Given the description of an element on the screen output the (x, y) to click on. 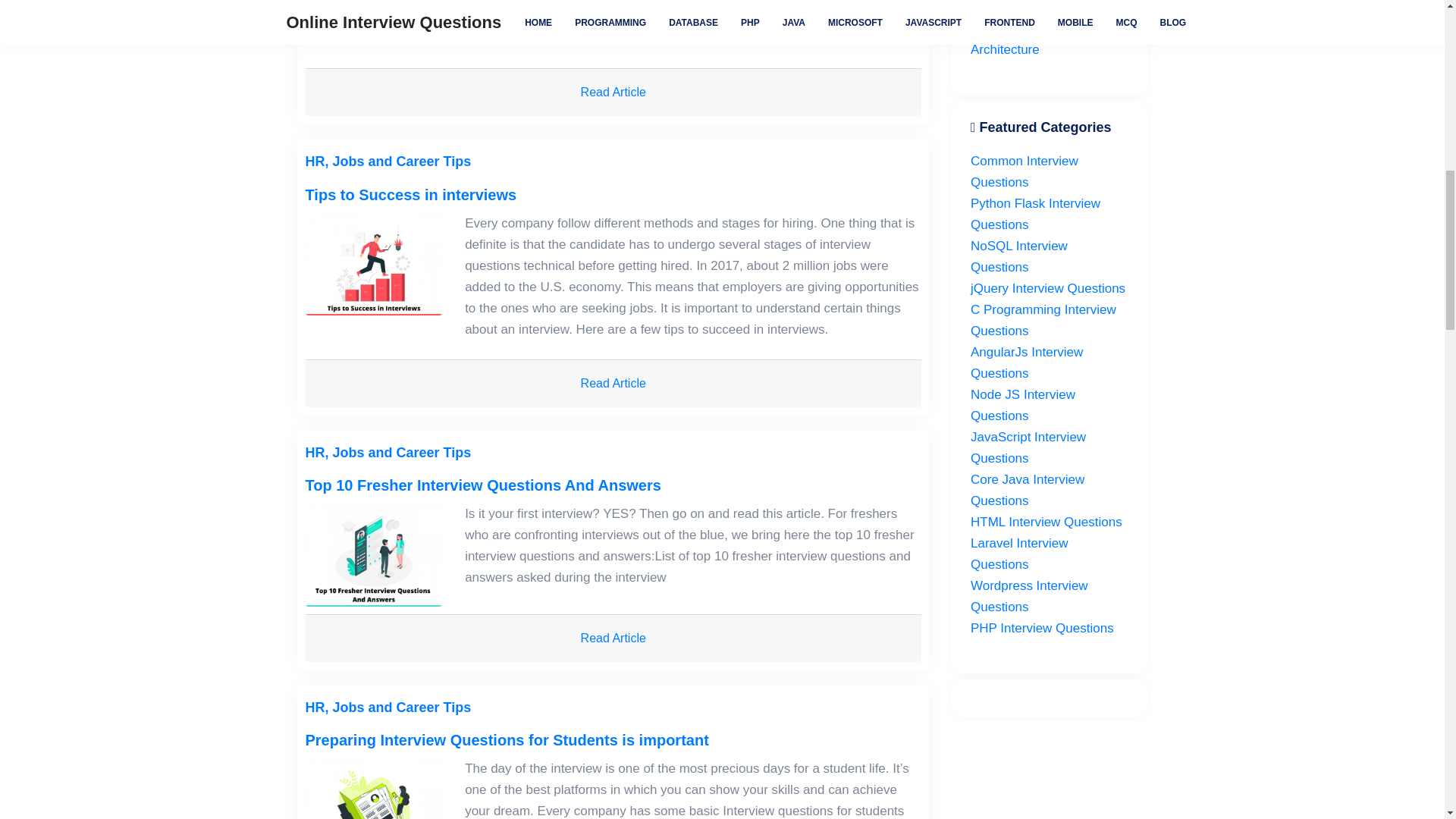
Read Article (613, 92)
Tips to Success in interviews (410, 194)
HR, Jobs and Career Tips (387, 160)
Tips to Success in interviews (373, 263)
